Given the description of an element on the screen output the (x, y) to click on. 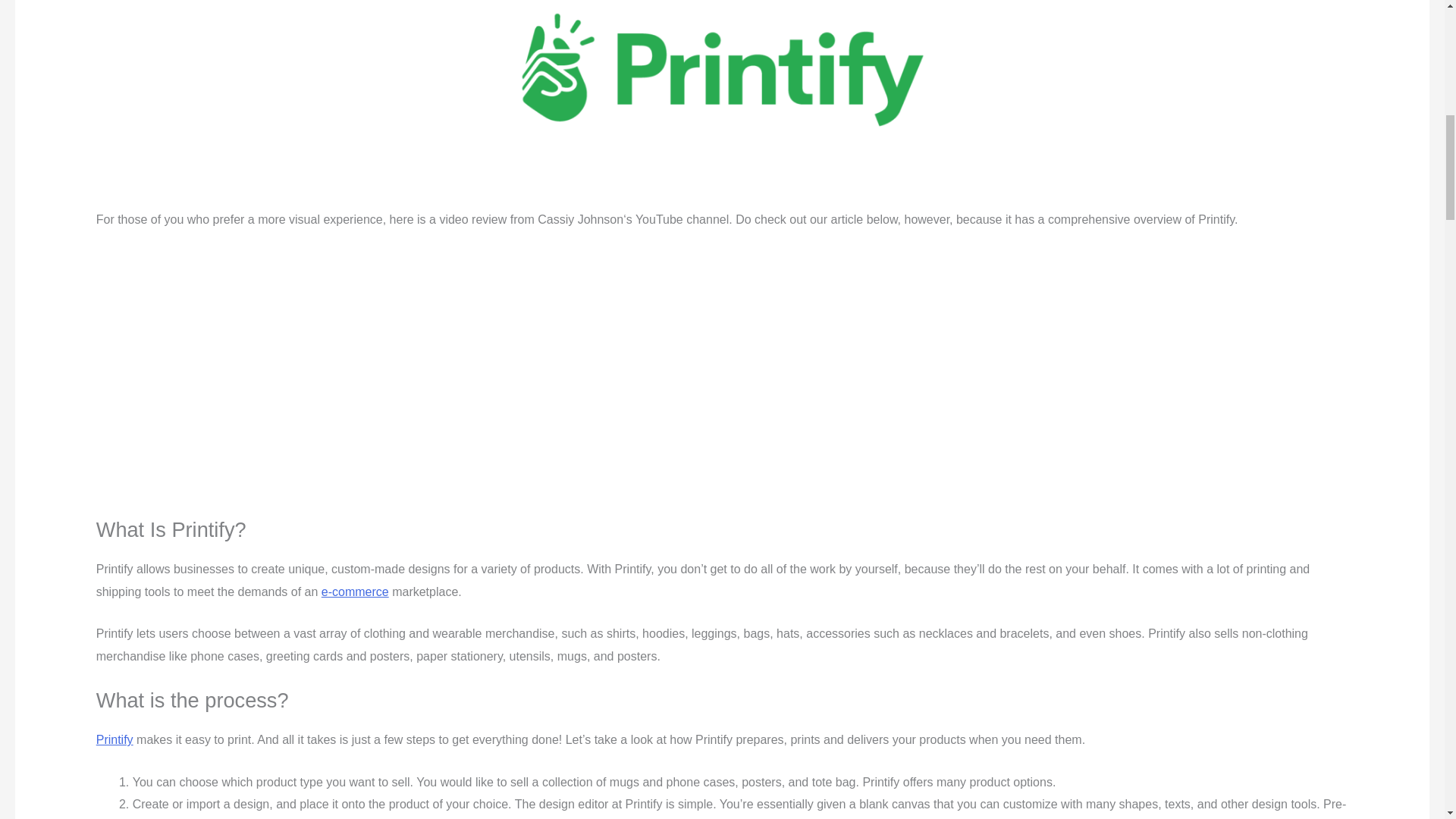
YouTube video player (308, 369)
Printify (114, 739)
e-commerce (354, 591)
